Given the description of an element on the screen output the (x, y) to click on. 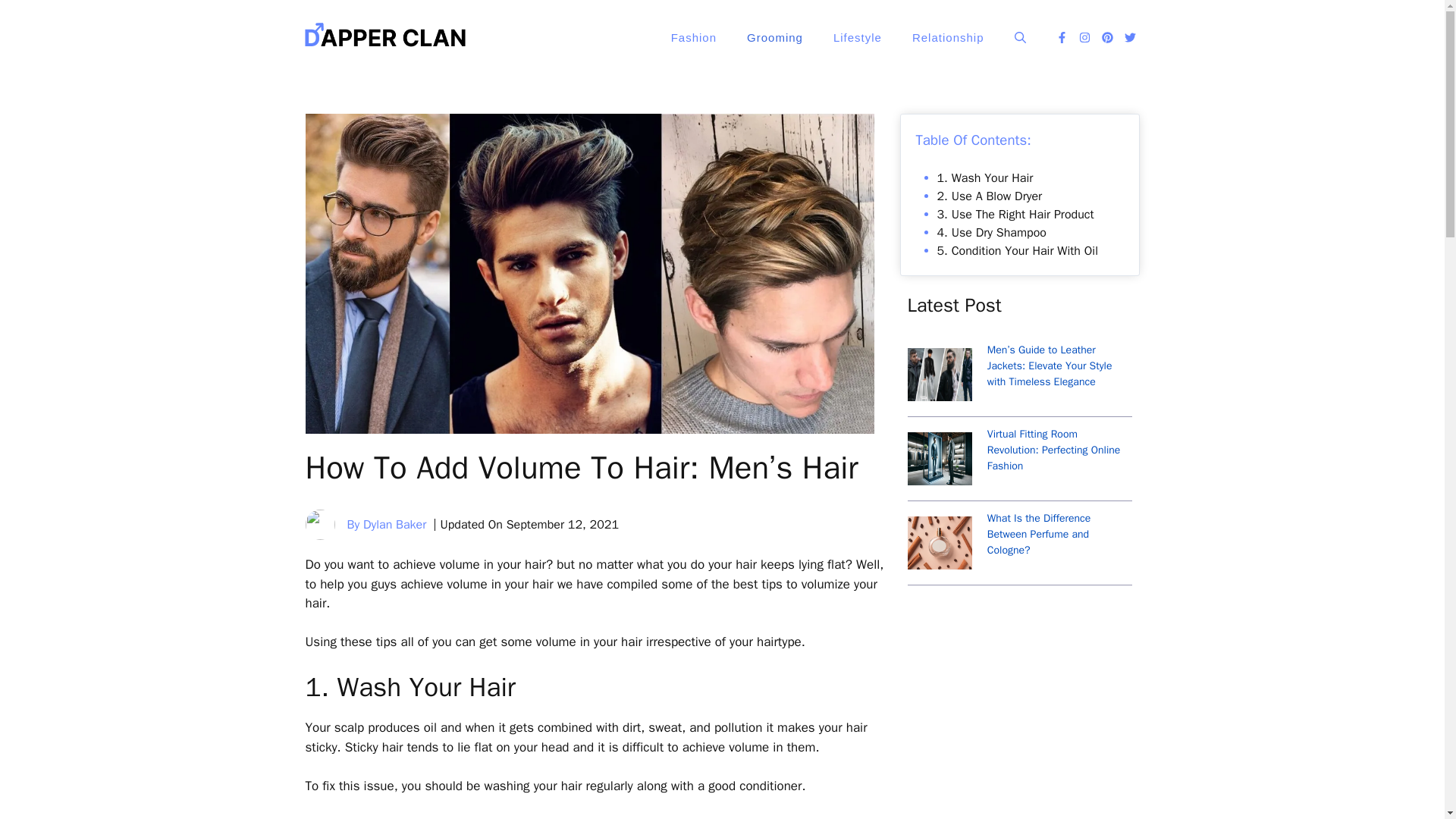
1. Wash Your Hair (985, 177)
Virtual Fitting Room Revolution: Perfecting Online Fashion (1054, 449)
Grooming (775, 37)
Relationship (947, 37)
Fashion (694, 37)
5. Condition Your Hair With Oil (1017, 250)
Lifestyle (857, 37)
What Is the Difference Between Perfume and Cologne? (1038, 533)
2. Use A Blow Dryer (989, 196)
4. Use Dry Shampoo (991, 232)
